Given the description of an element on the screen output the (x, y) to click on. 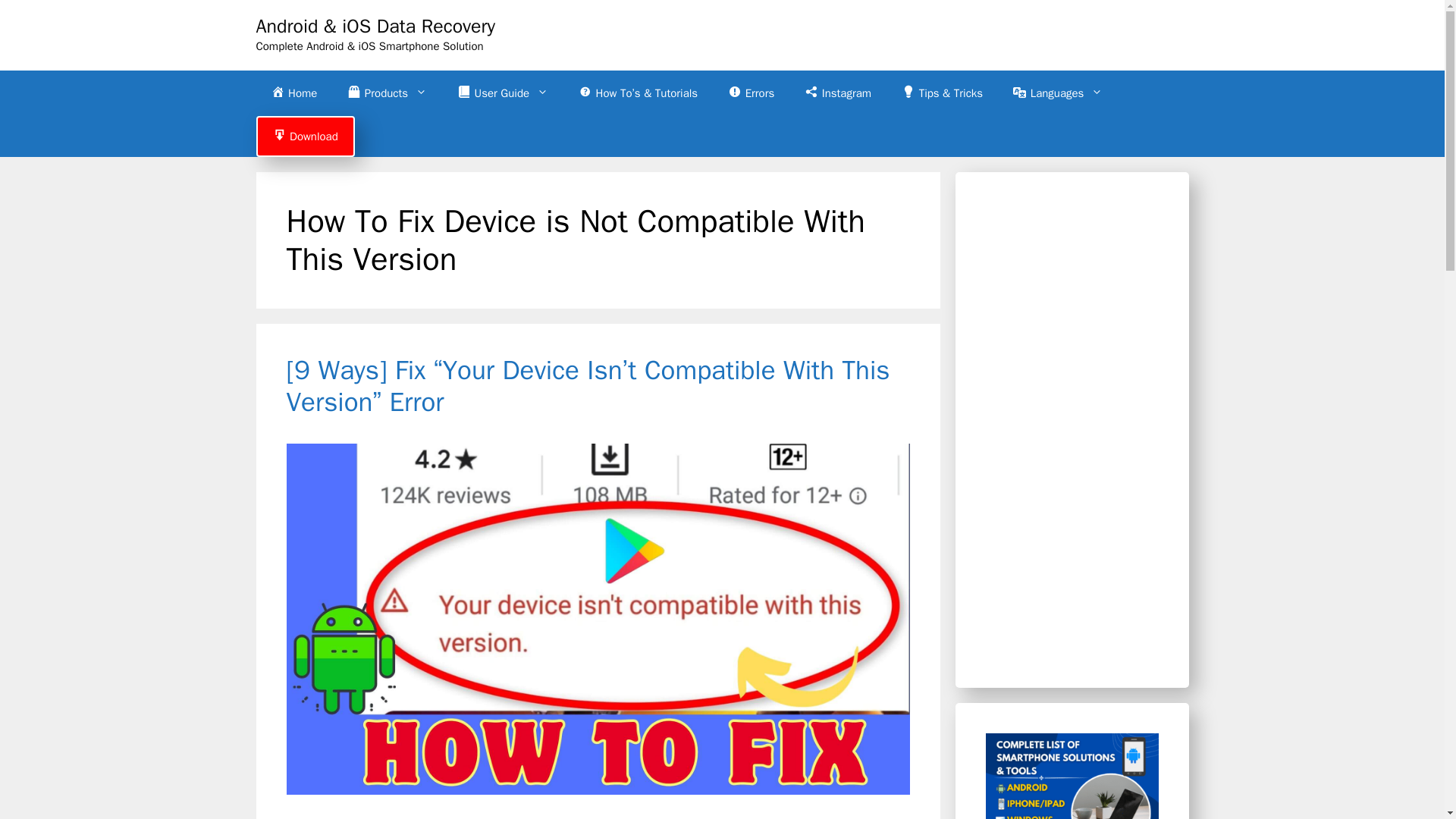
Languages (1057, 92)
Instagram (837, 92)
Errors (751, 92)
Home (294, 92)
Products (386, 92)
User Guide (502, 92)
Download (305, 135)
